Given the description of an element on the screen output the (x, y) to click on. 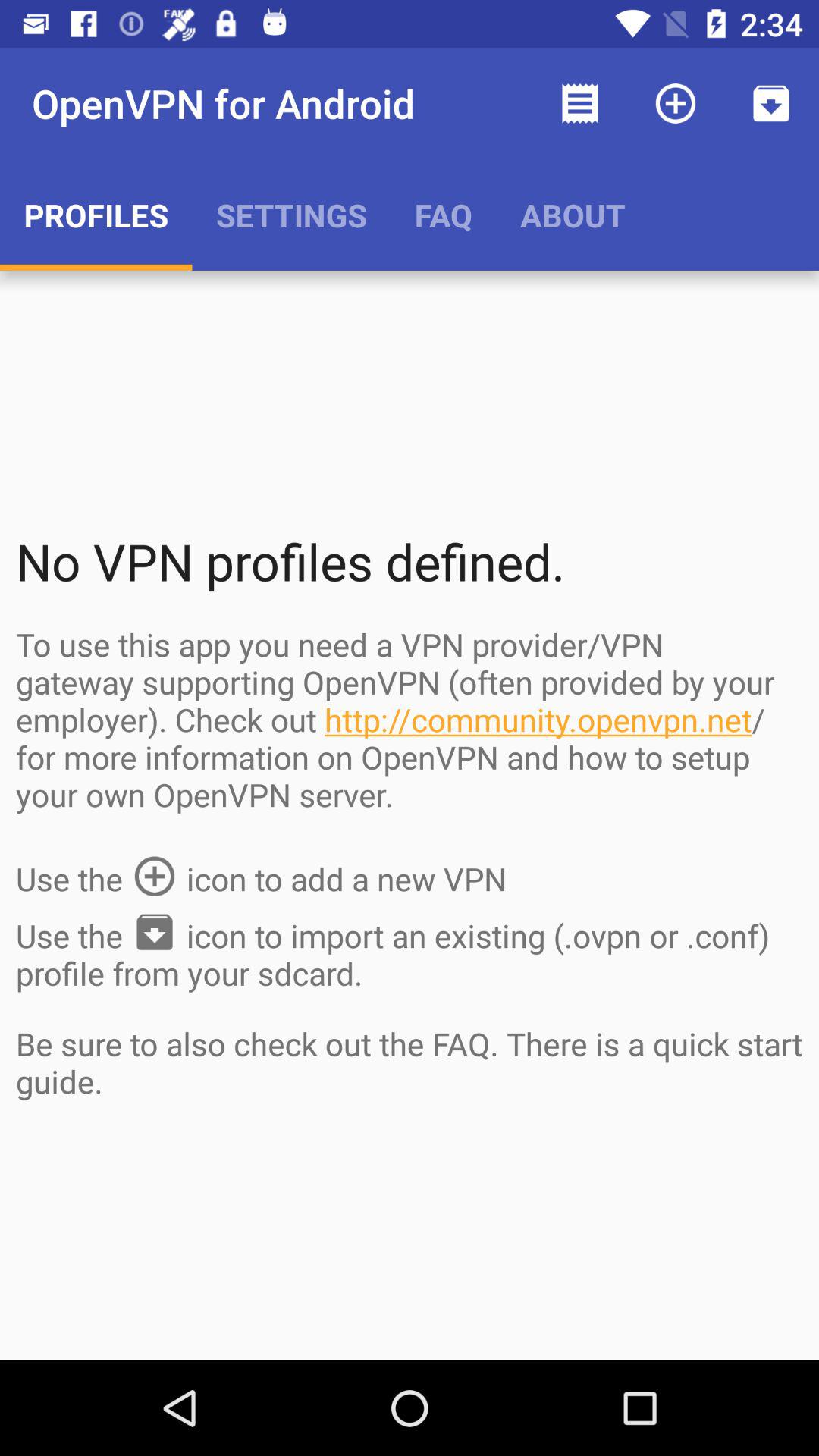
tap the app next to the faq item (291, 214)
